Given the description of an element on the screen output the (x, y) to click on. 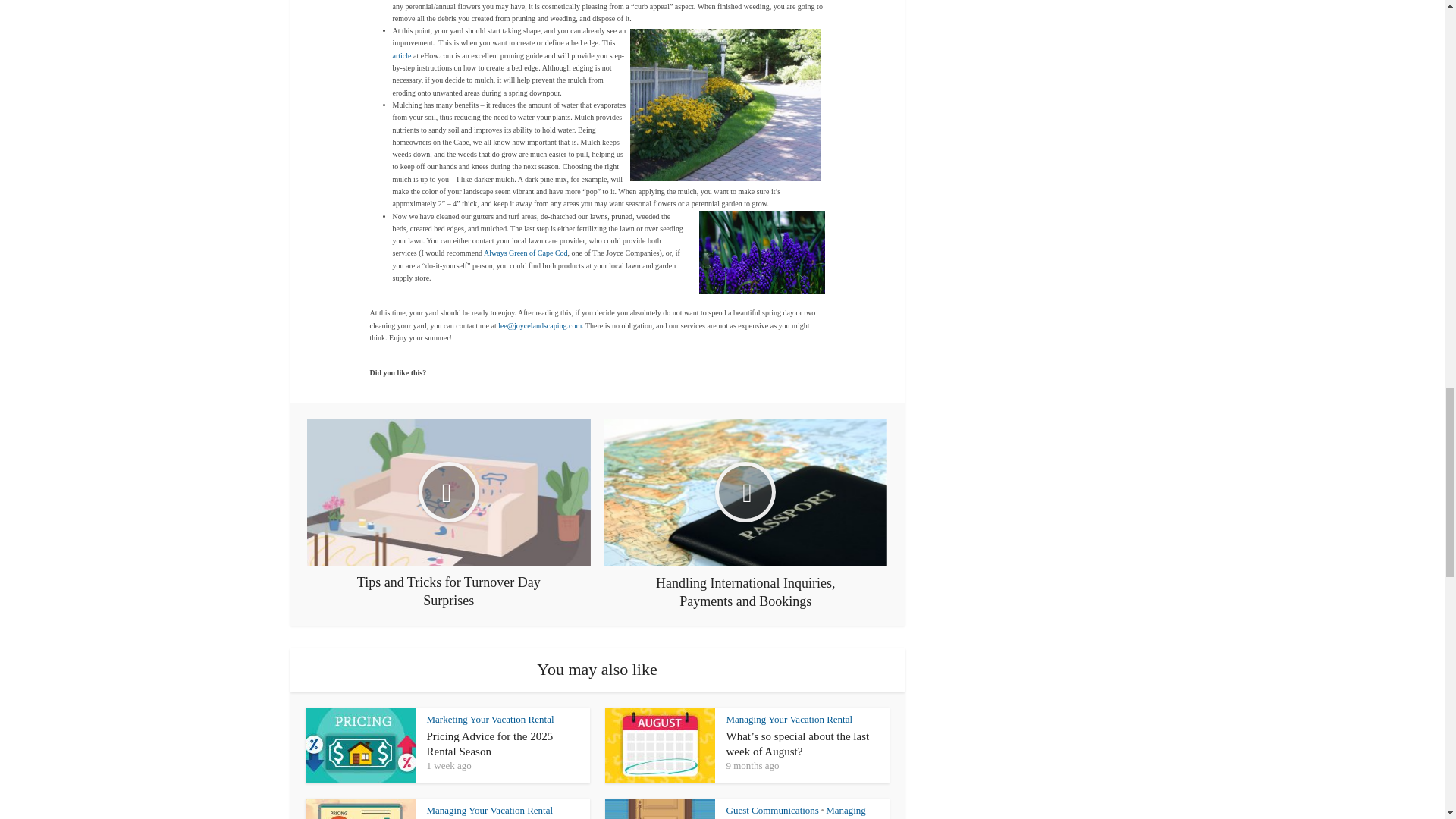
Pricing Advice for the 2025 Rental Season (489, 743)
How to Make a Neat Edge Between Lawn and Flower Beds (403, 55)
Contact Lee at Joyce Landscaping (538, 325)
Always Green of Cape Cod (525, 252)
